Given the description of an element on the screen output the (x, y) to click on. 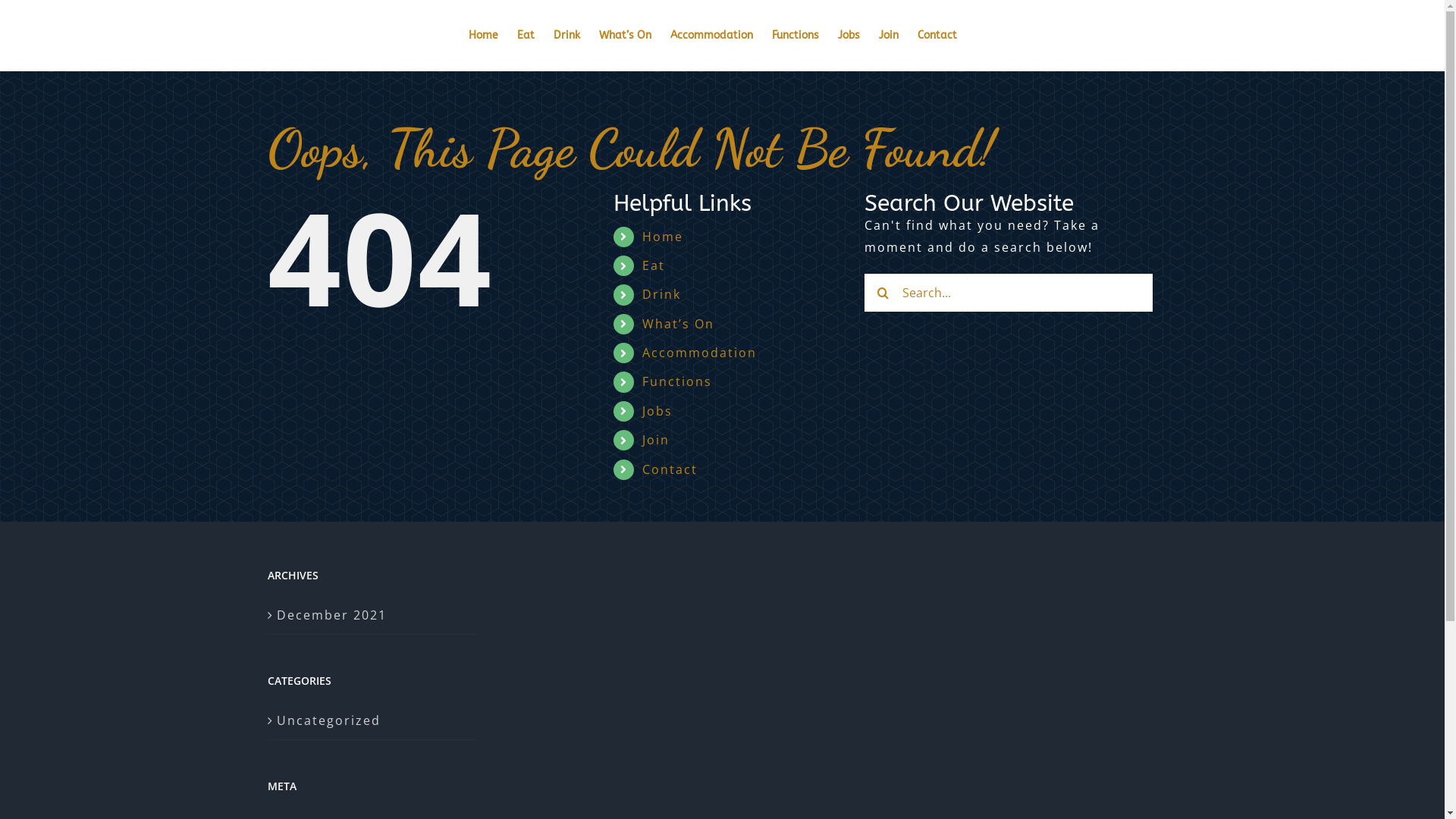
Contact Element type: text (669, 469)
December 2021 Element type: text (372, 615)
Functions Element type: text (677, 381)
Uncategorized Element type: text (372, 720)
Eat Element type: text (653, 265)
Jobs Element type: text (848, 35)
Eat Element type: text (525, 35)
Join Element type: text (888, 35)
Drink Element type: text (566, 35)
Join Element type: text (655, 439)
Home Element type: text (662, 236)
Home Element type: text (483, 35)
Contact Element type: text (937, 35)
Accommodation Element type: text (699, 352)
Jobs Element type: text (657, 410)
Accommodation Element type: text (711, 35)
Functions Element type: text (795, 35)
Drink Element type: text (661, 293)
